Given the description of an element on the screen output the (x, y) to click on. 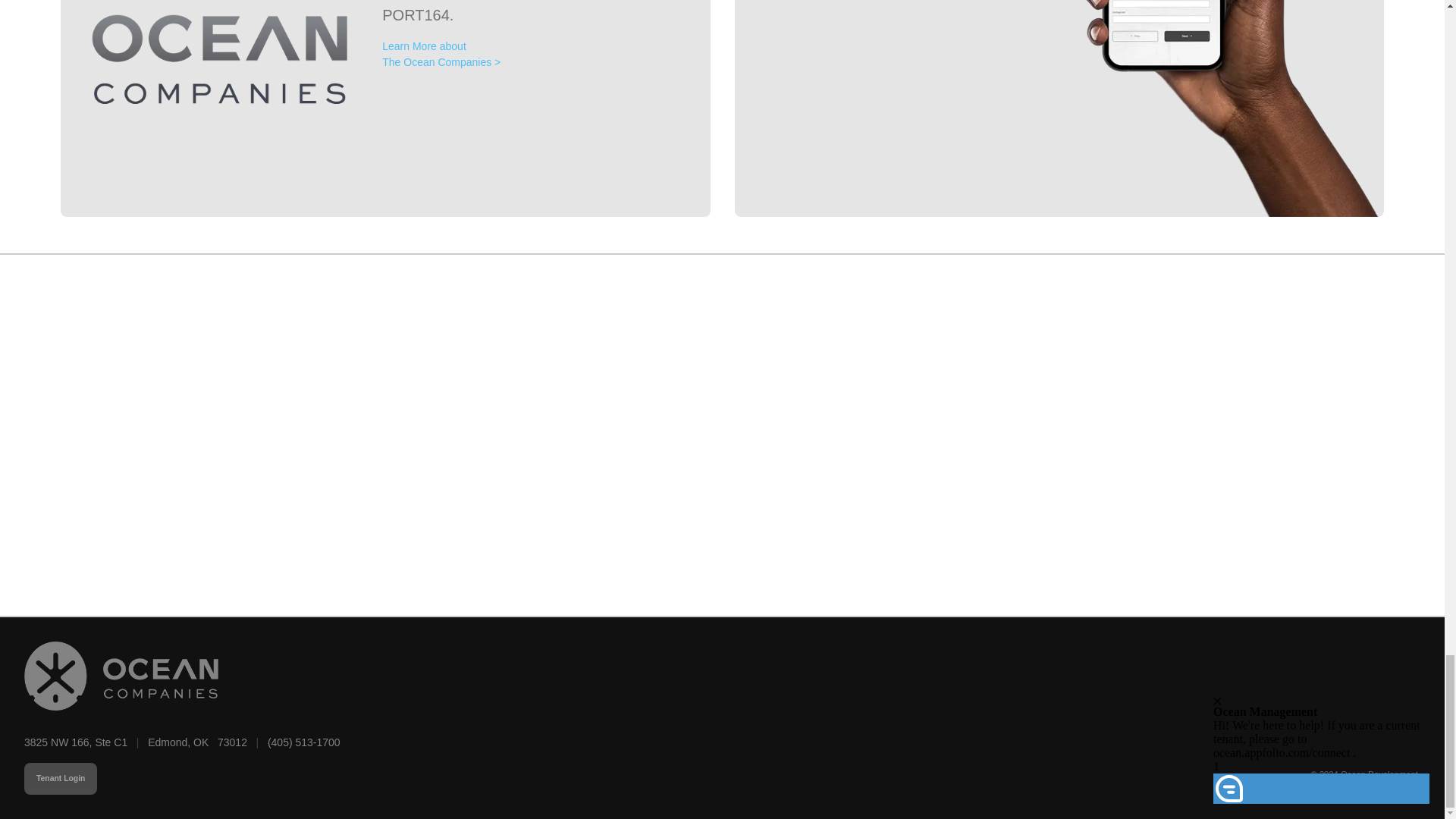
Tenant Login (60, 778)
